Given the description of an element on the screen output the (x, y) to click on. 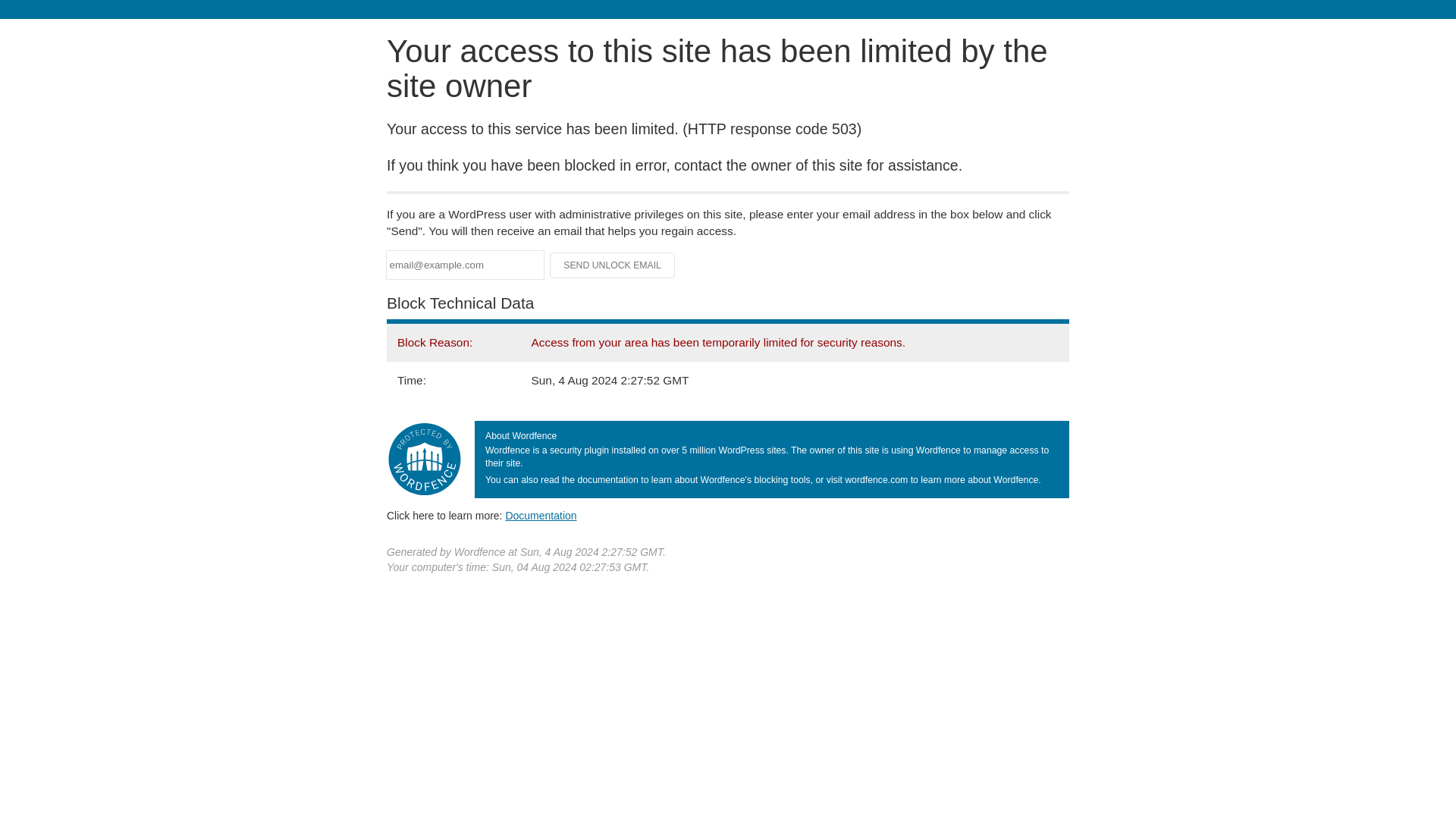
Send Unlock Email (612, 265)
Documentation (540, 515)
Send Unlock Email (612, 265)
